Given the description of an element on the screen output the (x, y) to click on. 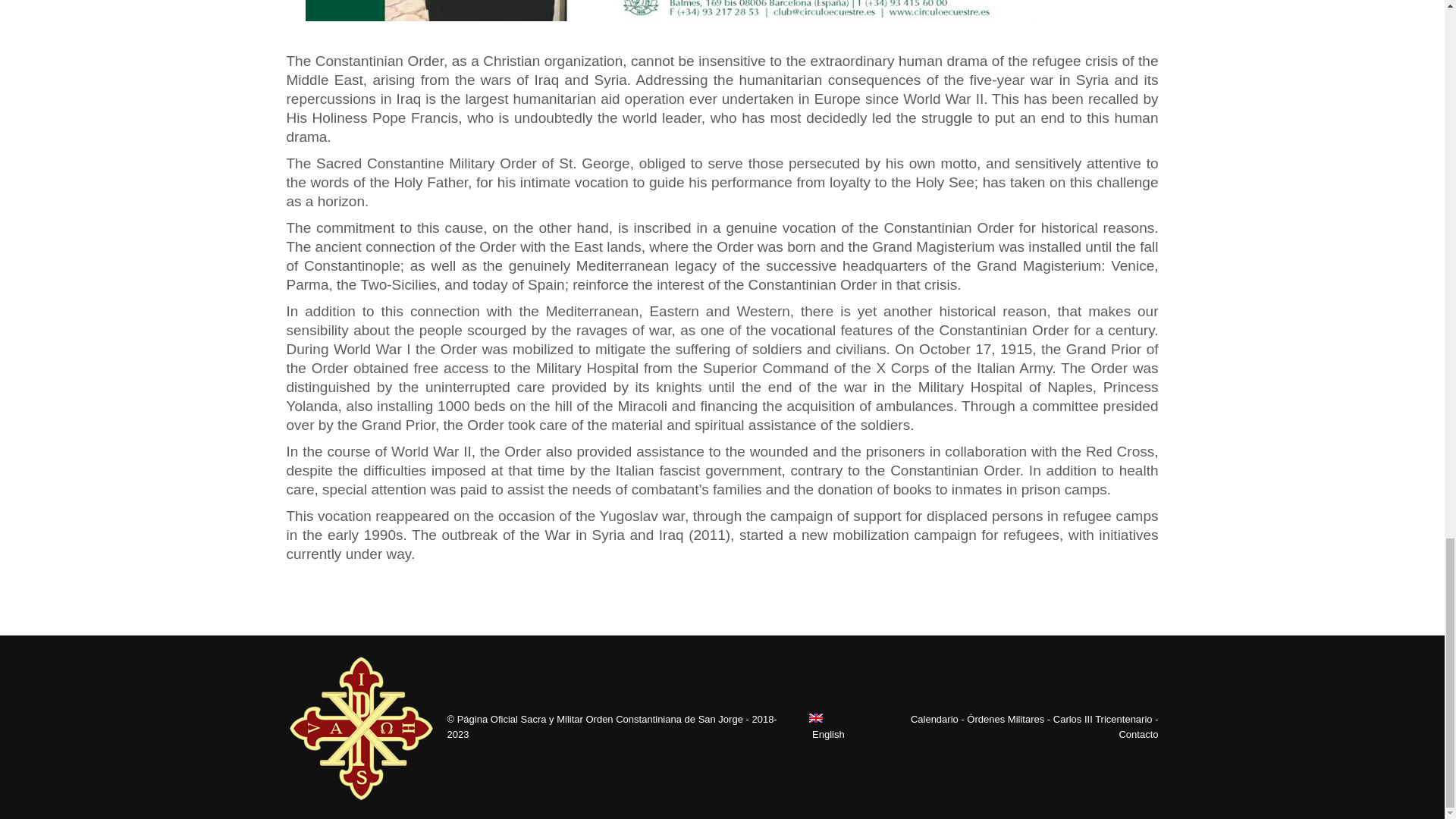
English (833, 726)
English (833, 726)
